Given the description of an element on the screen output the (x, y) to click on. 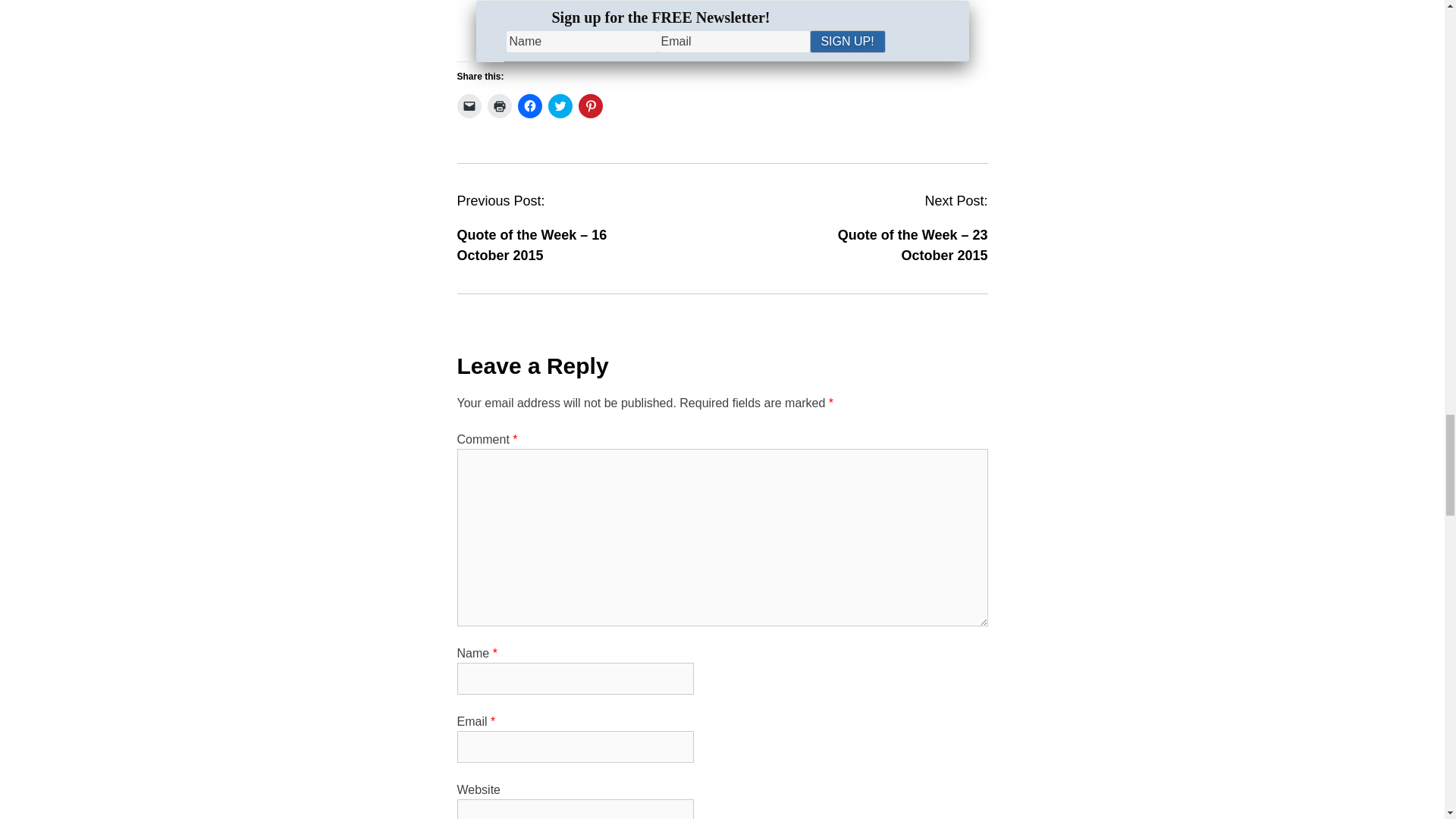
Click to share on Twitter (559, 105)
Click to print (498, 105)
Click to share on Pinterest (590, 105)
Sign up! (847, 41)
Click to share on Facebook (528, 105)
Click to email a link to a friend (468, 105)
